Given the description of an element on the screen output the (x, y) to click on. 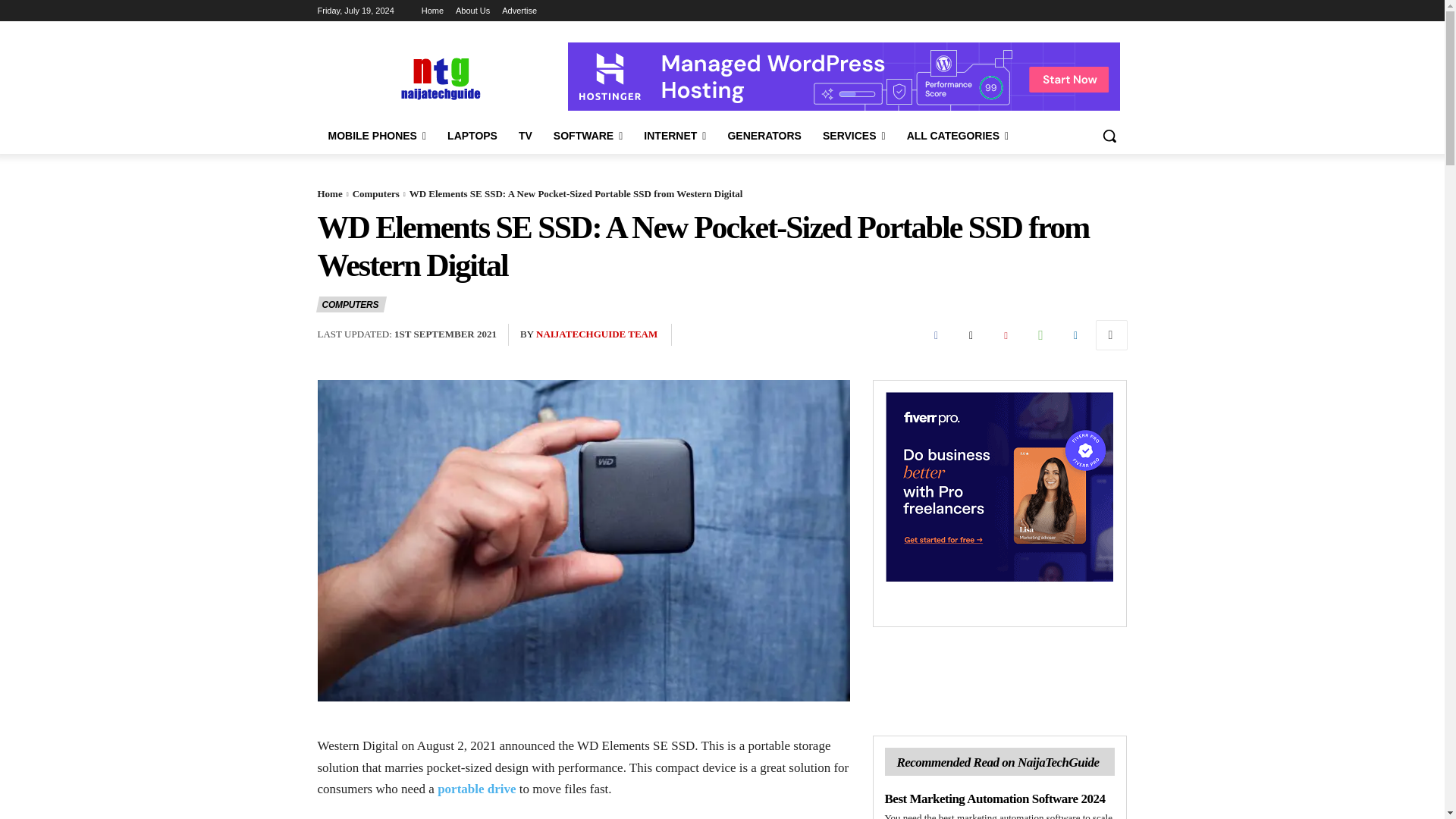
NaijaTechGuide (438, 76)
Home (433, 10)
About Us (472, 10)
MOBILE PHONES (376, 135)
NaijaTechGuide (438, 76)
Advertise and Promote your Business on NaijaTechGuide NTG (519, 10)
Advertise (519, 10)
